Given the description of an element on the screen output the (x, y) to click on. 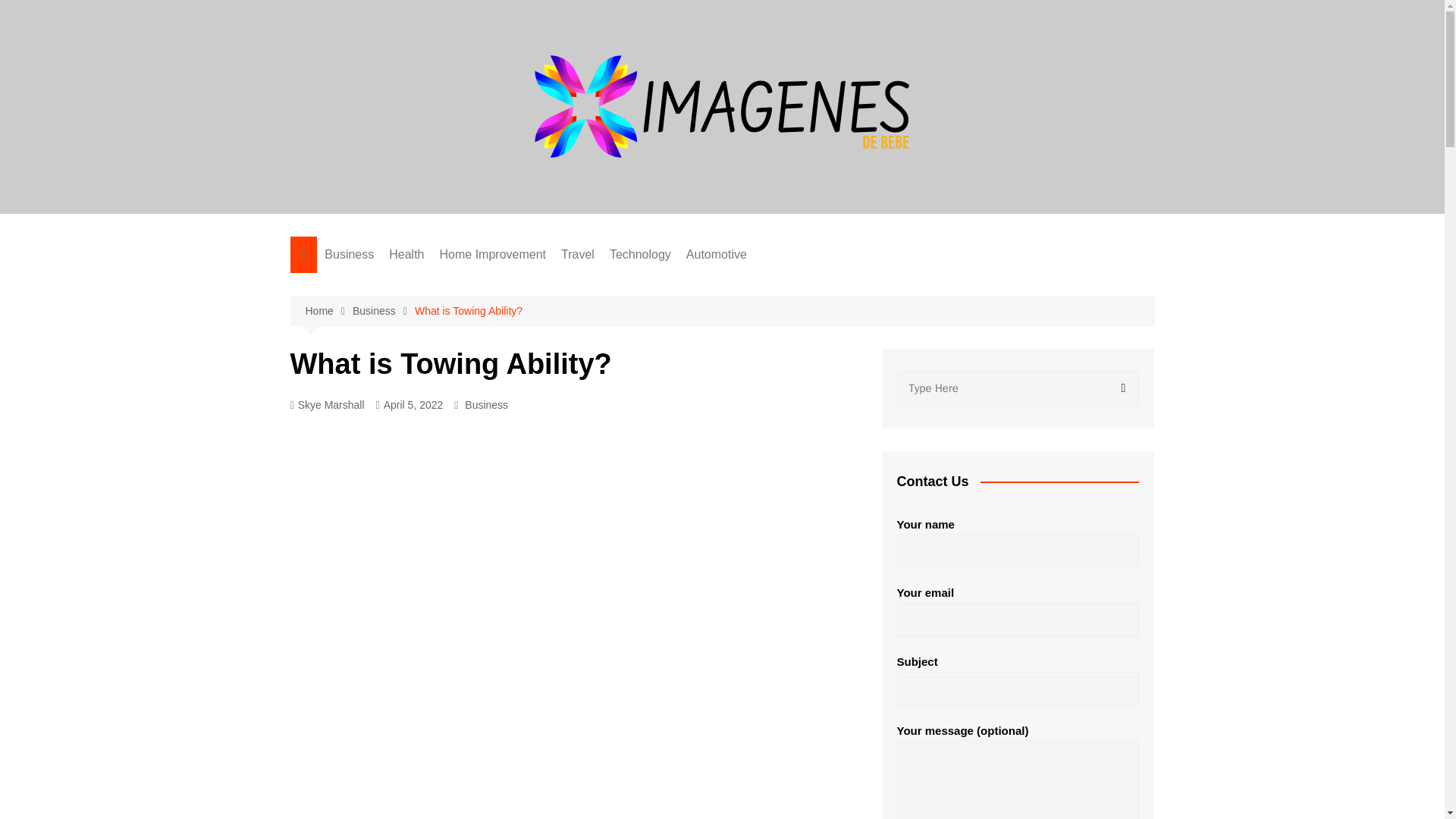
Home (328, 311)
What is Towing Ability? (468, 310)
Skye Marshall (326, 405)
Health (405, 254)
Travel (577, 254)
Technology (640, 254)
Business (383, 311)
Business (486, 404)
Automotive (716, 254)
Home Improvement (493, 254)
